Given the description of an element on the screen output the (x, y) to click on. 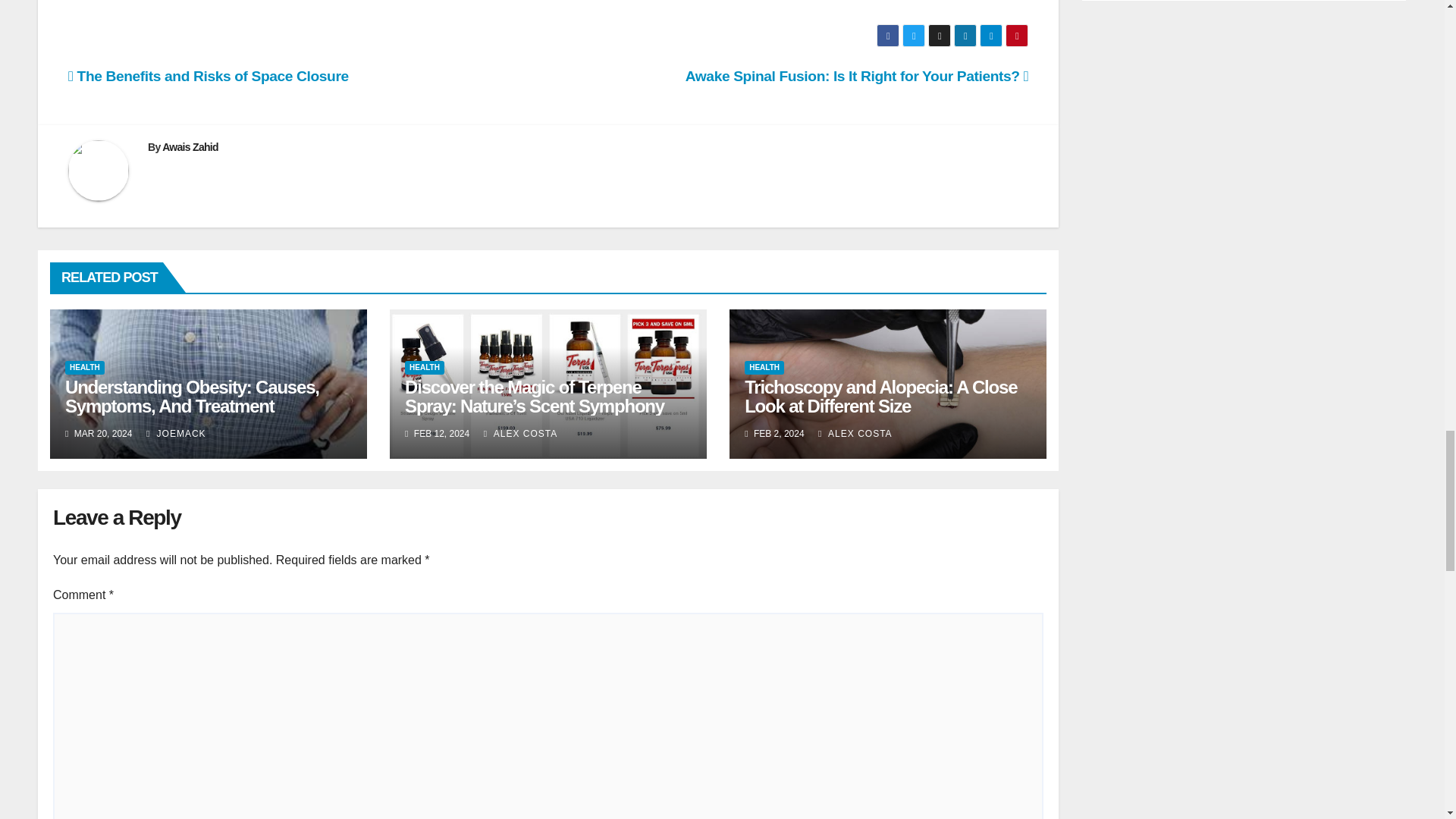
HEALTH (424, 367)
ALEX COSTA (520, 433)
JOEMACK (176, 433)
Awake Spinal Fusion: Is It Right for Your Patients? (857, 75)
Awais Zahid (189, 146)
HEALTH (84, 367)
The Benefits and Risks of Space Closure (208, 75)
Understanding Obesity: Causes, Symptoms, And Treatment (191, 396)
